Given the description of an element on the screen output the (x, y) to click on. 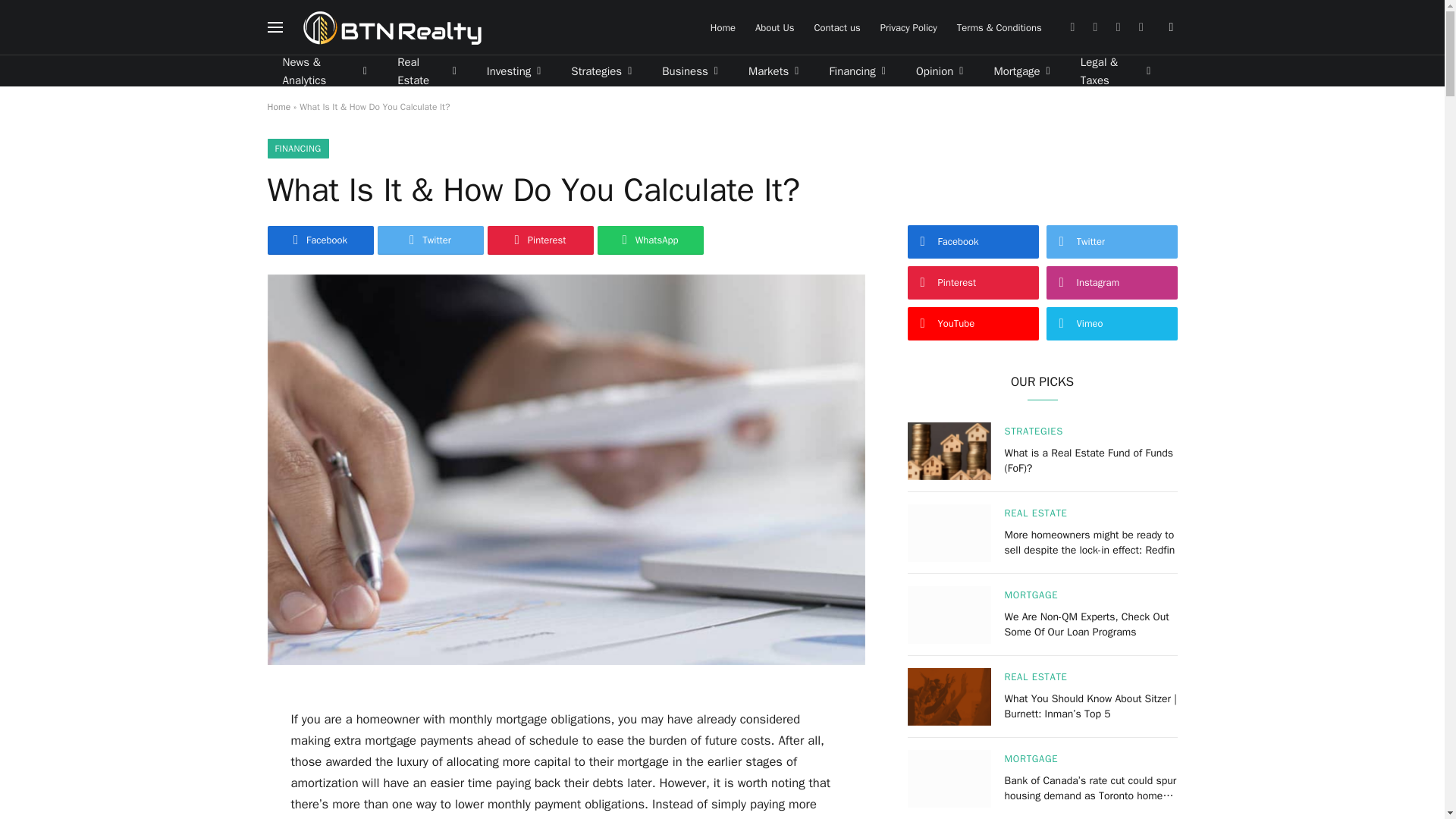
Privacy Policy (908, 27)
Switch to Dark Design - easier on eyes. (1168, 27)
About Us (774, 27)
BTN Realty (392, 27)
Contact us (836, 27)
